Given the description of an element on the screen output the (x, y) to click on. 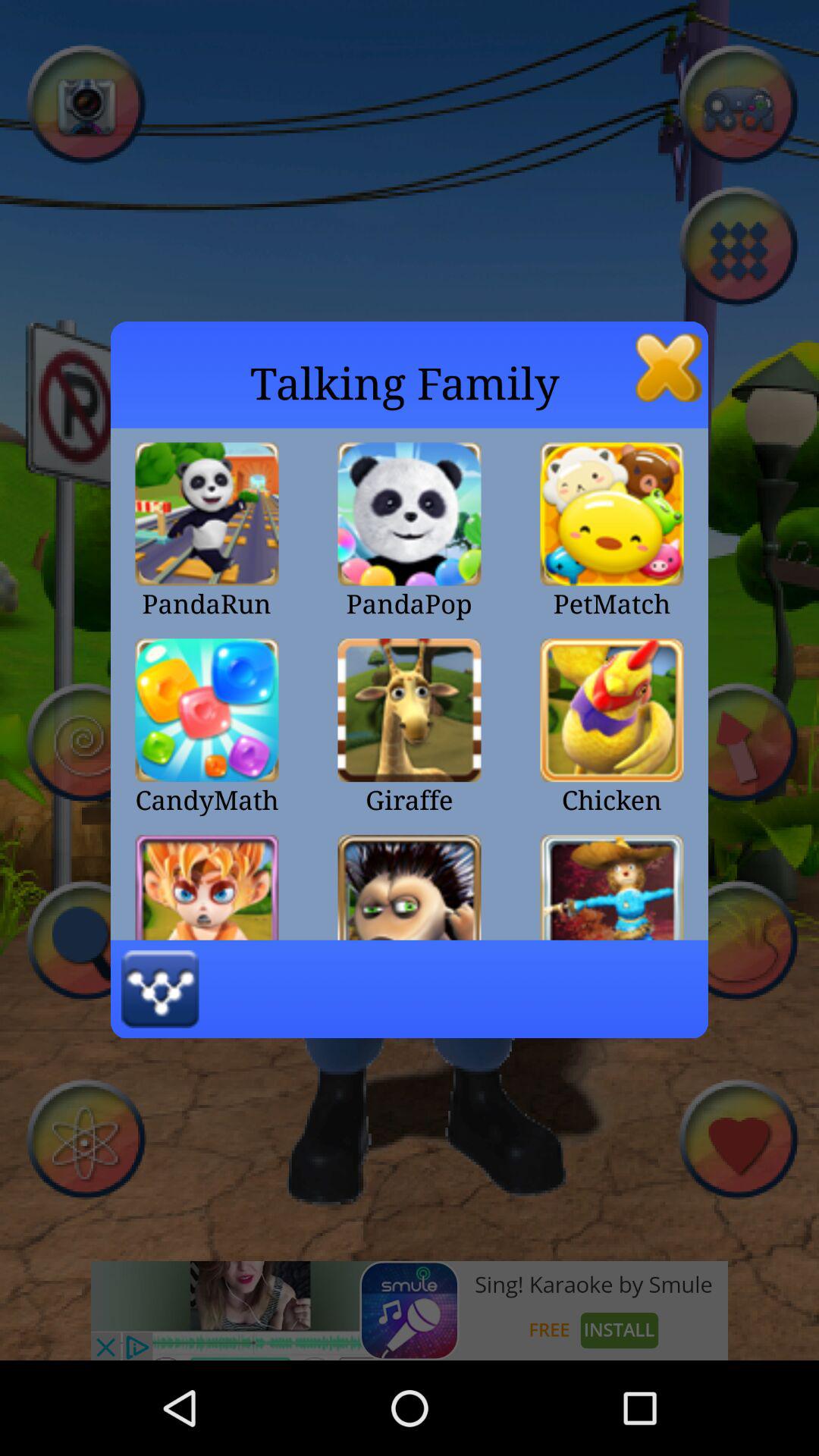
turn off the app to the right of the talking family icon (668, 367)
